Given the description of an element on the screen output the (x, y) to click on. 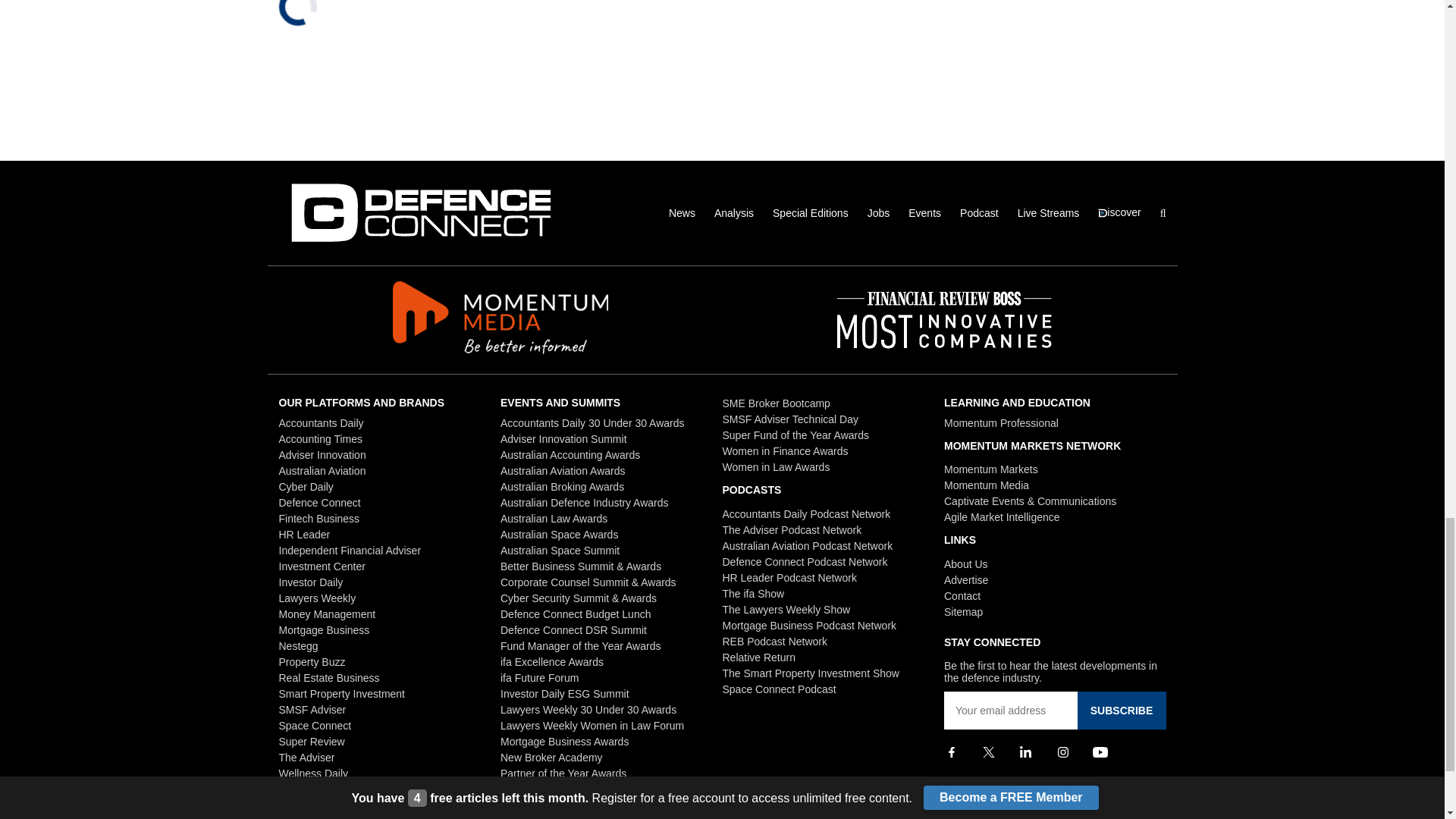
SUBSCRIBE (1121, 710)
